Given the description of an element on the screen output the (x, y) to click on. 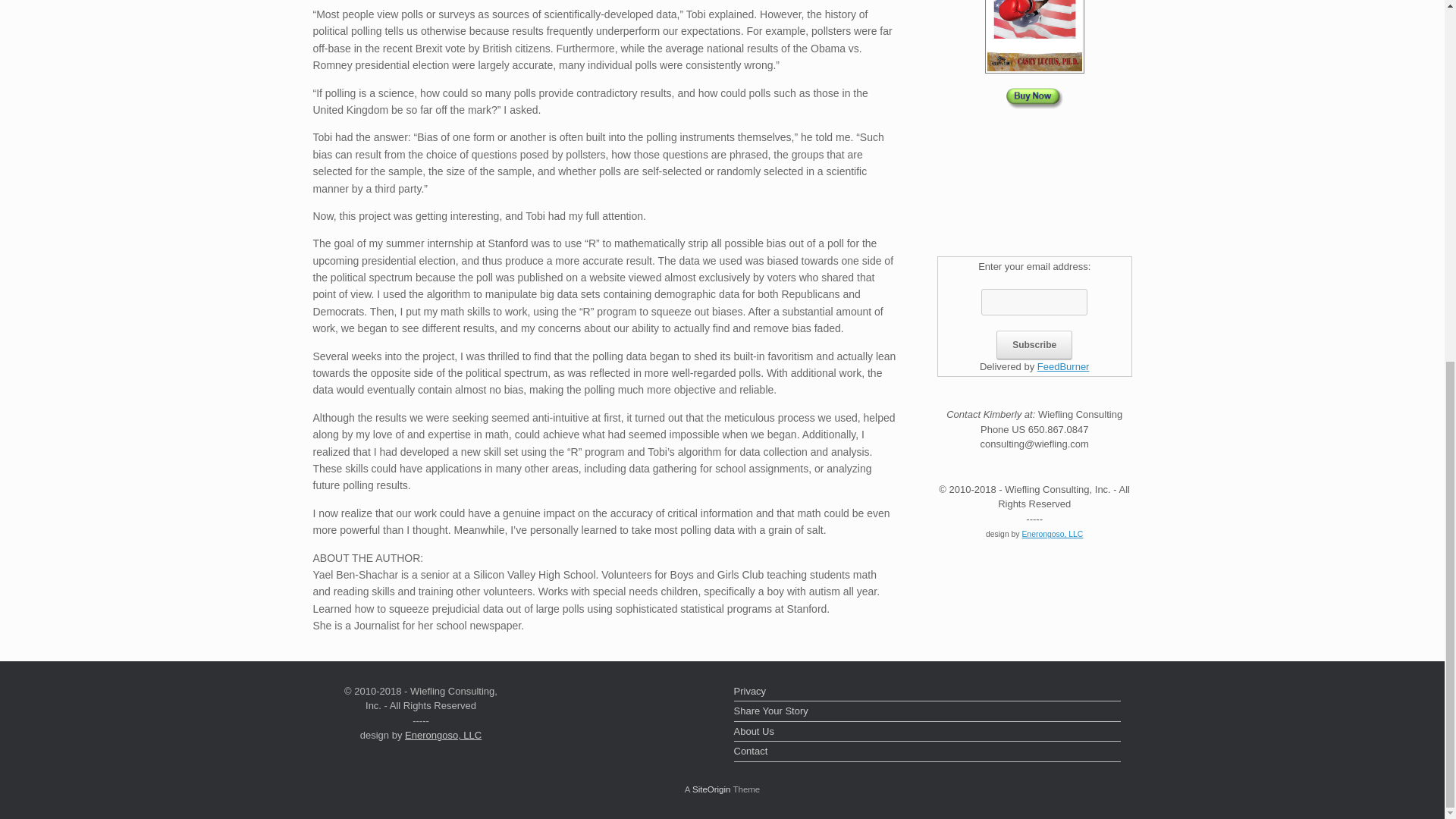
Buy Scrappy Campaigning (1034, 92)
Subscribe (1033, 344)
